Given the description of an element on the screen output the (x, y) to click on. 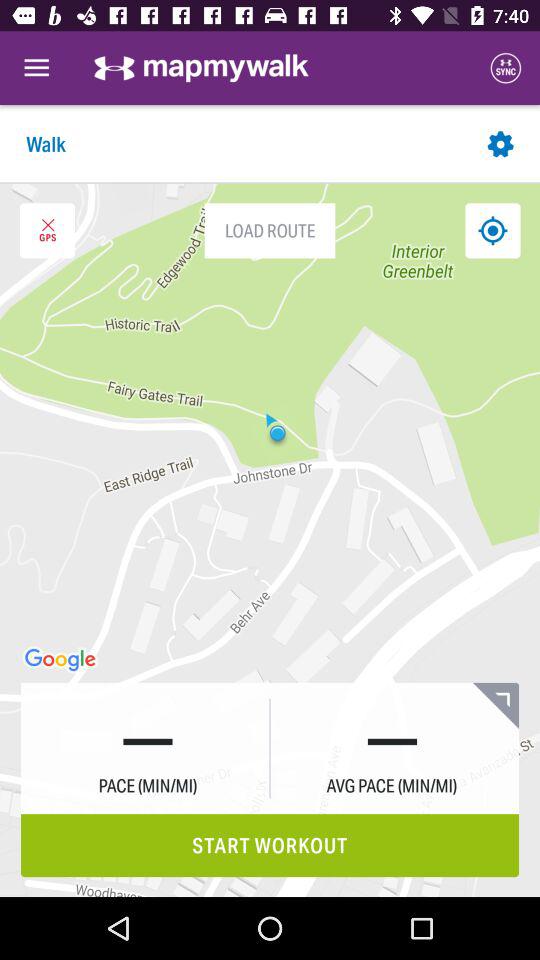
tap icon to the left of load route item (47, 230)
